Given the description of an element on the screen output the (x, y) to click on. 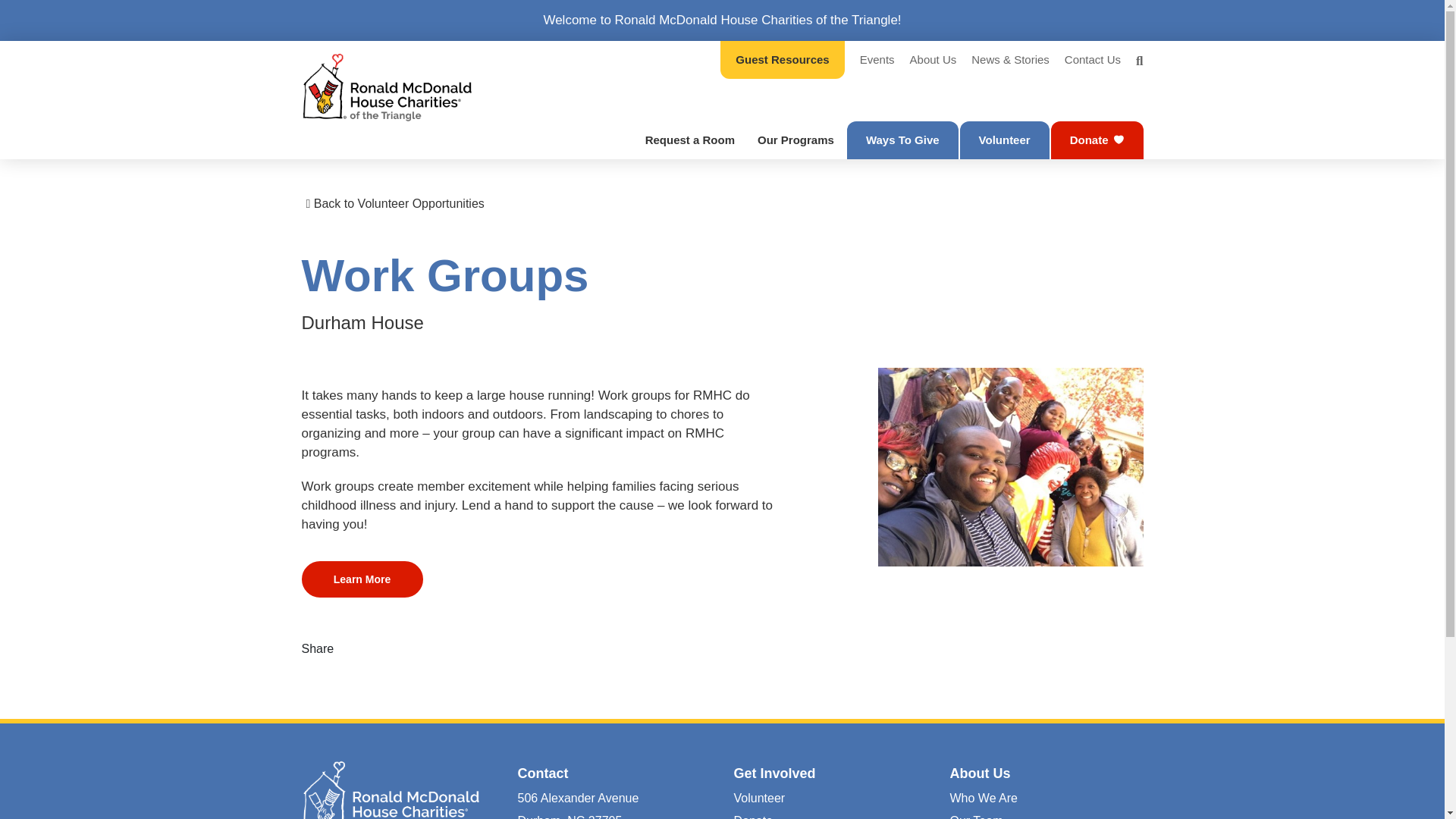
Guest Resources (782, 59)
Donate (1096, 139)
About Us (932, 60)
Contact Us (1092, 60)
Ways To Give (902, 139)
Our Programs (795, 140)
Volunteer (1004, 139)
Events (877, 60)
Request a Room (689, 140)
